Given the description of an element on the screen output the (x, y) to click on. 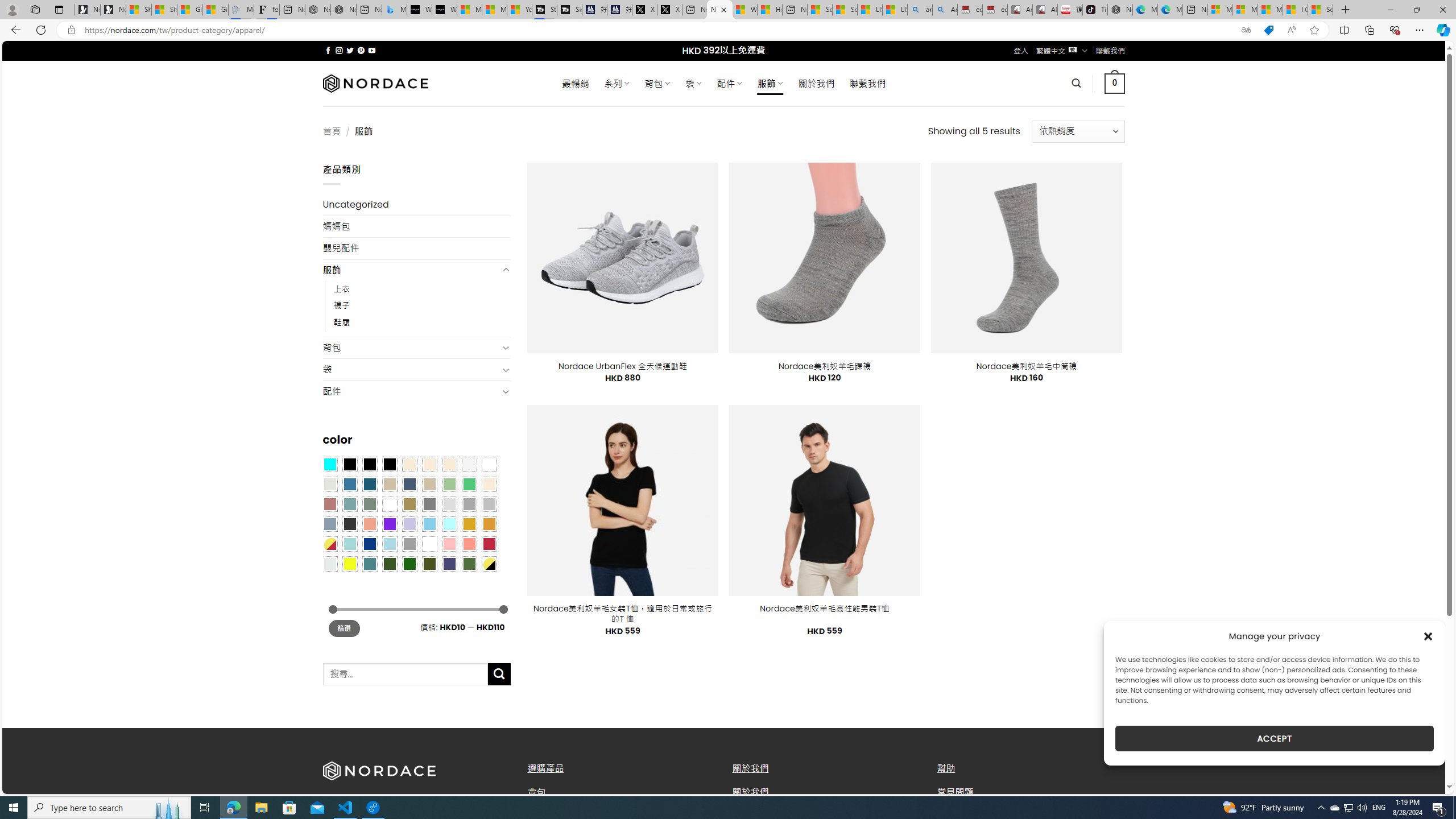
Uncategorized (416, 204)
Class: cmplz-close (1428, 636)
